Given the description of an element on the screen output the (x, y) to click on. 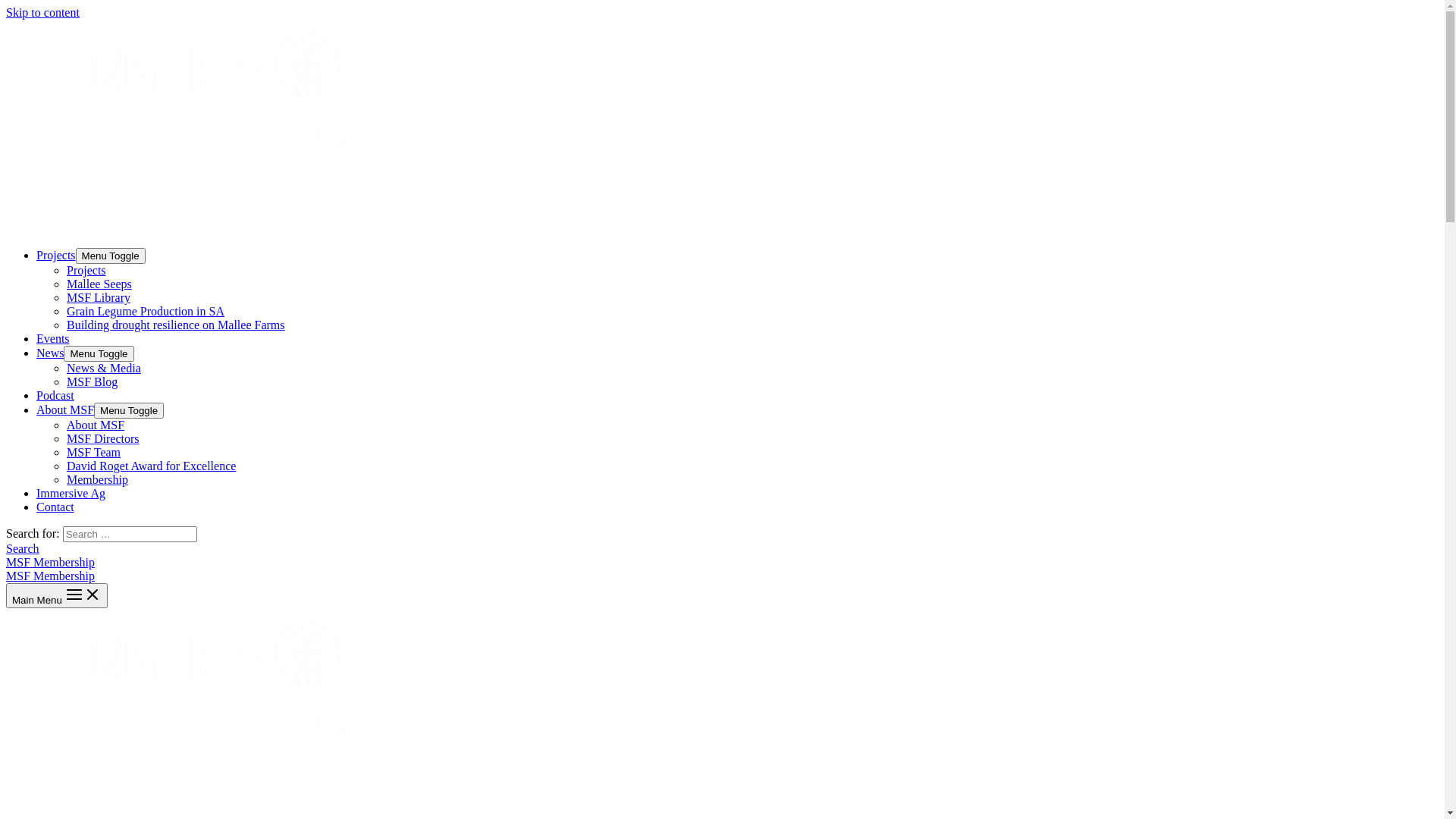
Menu Toggle Element type: text (110, 255)
MSF Library Element type: text (98, 297)
Grain Legume Production in SA Element type: text (145, 310)
Menu Toggle Element type: text (98, 353)
Events Element type: text (52, 338)
About MSF Element type: text (95, 424)
Building drought resilience on Mallee Farms Element type: text (175, 324)
MSF Team Element type: text (93, 451)
MSF Membership Element type: text (722, 568)
Main Menu Element type: text (56, 595)
MSF Membership Element type: text (50, 575)
News Element type: text (49, 352)
News & Media Element type: text (103, 367)
About MSF Element type: text (65, 409)
MSF Directors Element type: text (102, 438)
David Roget Award for Excellence Element type: text (150, 465)
Search Element type: text (22, 548)
Projects Element type: text (55, 254)
MSF Blog Element type: text (91, 381)
Immersive Ag Element type: text (70, 492)
Membership Element type: text (97, 479)
Projects Element type: text (86, 269)
msf (2) - Mallee Sustainable Farming Element type: hover (191, 125)
Mallee Seeps Element type: text (98, 283)
Podcast Element type: text (55, 395)
Skip to content Element type: text (42, 12)
Menu Toggle Element type: text (128, 410)
Contact Element type: text (55, 506)
